Given the description of an element on the screen output the (x, y) to click on. 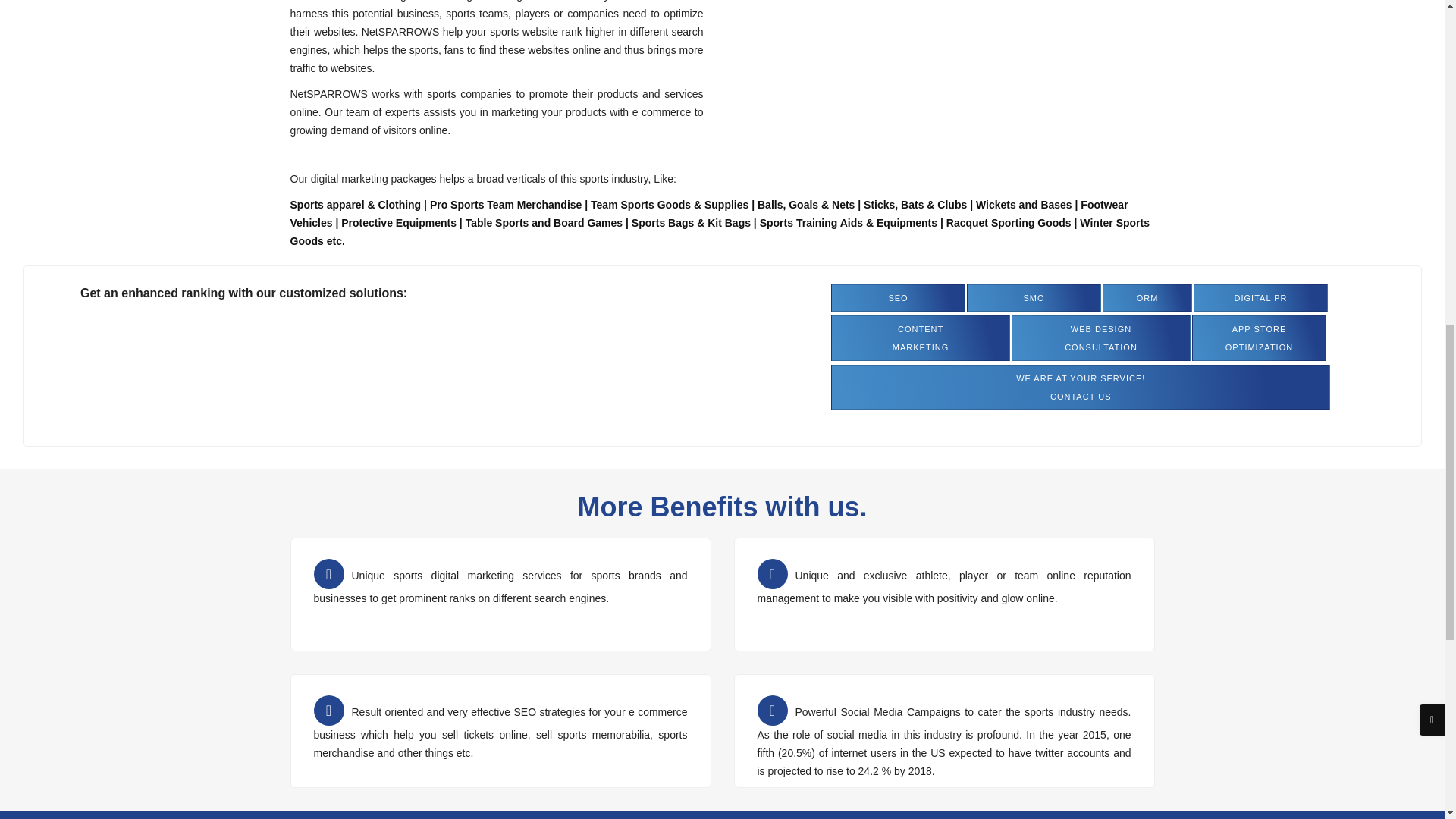
Sports Industry Digital Marketing Strategies (1259, 338)
ORM (940, 9)
DIGITAL PR (1147, 298)
SMO (1101, 338)
SEO (920, 338)
